Given the description of an element on the screen output the (x, y) to click on. 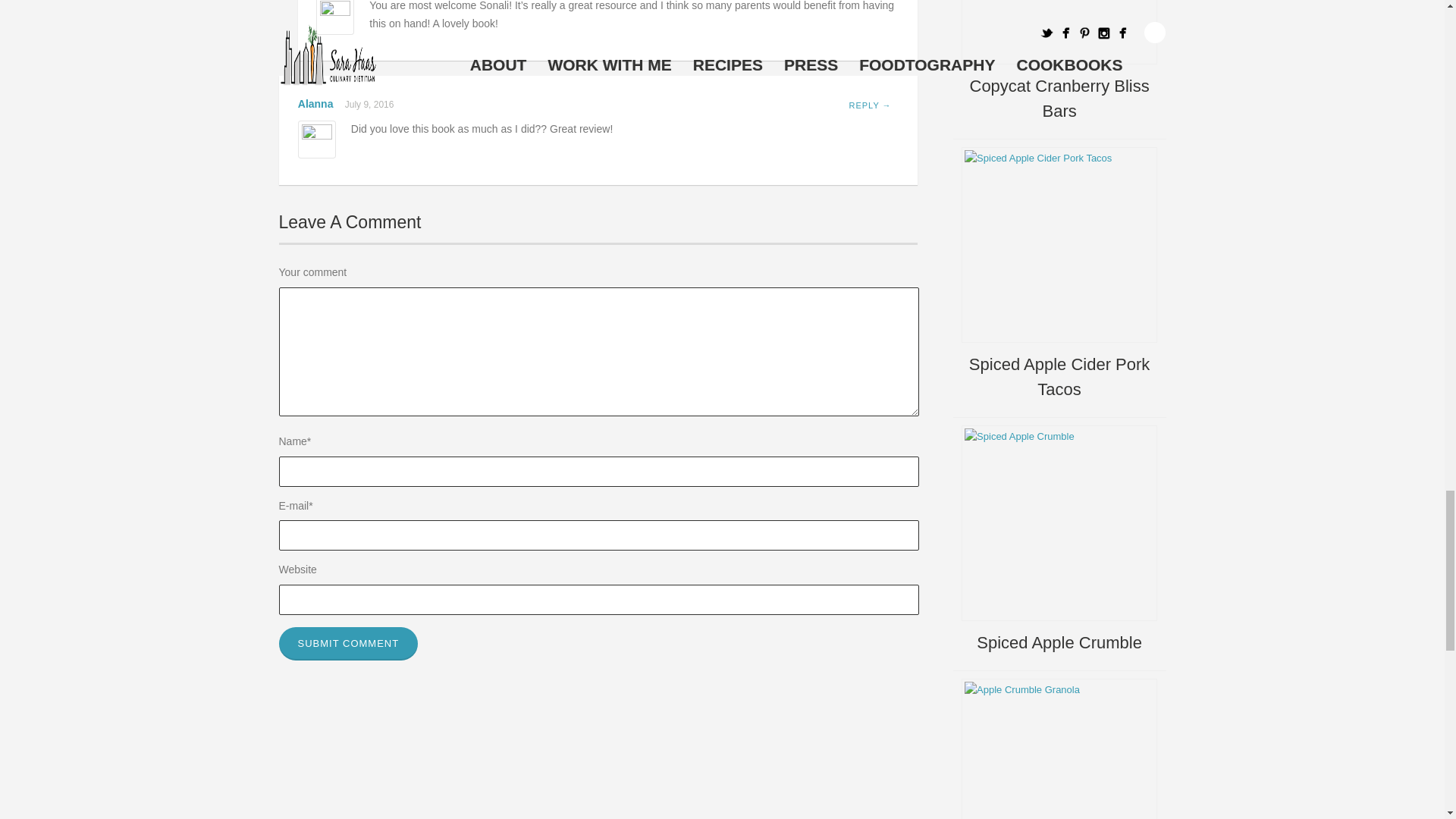
Submit comment (349, 643)
